Given the description of an element on the screen output the (x, y) to click on. 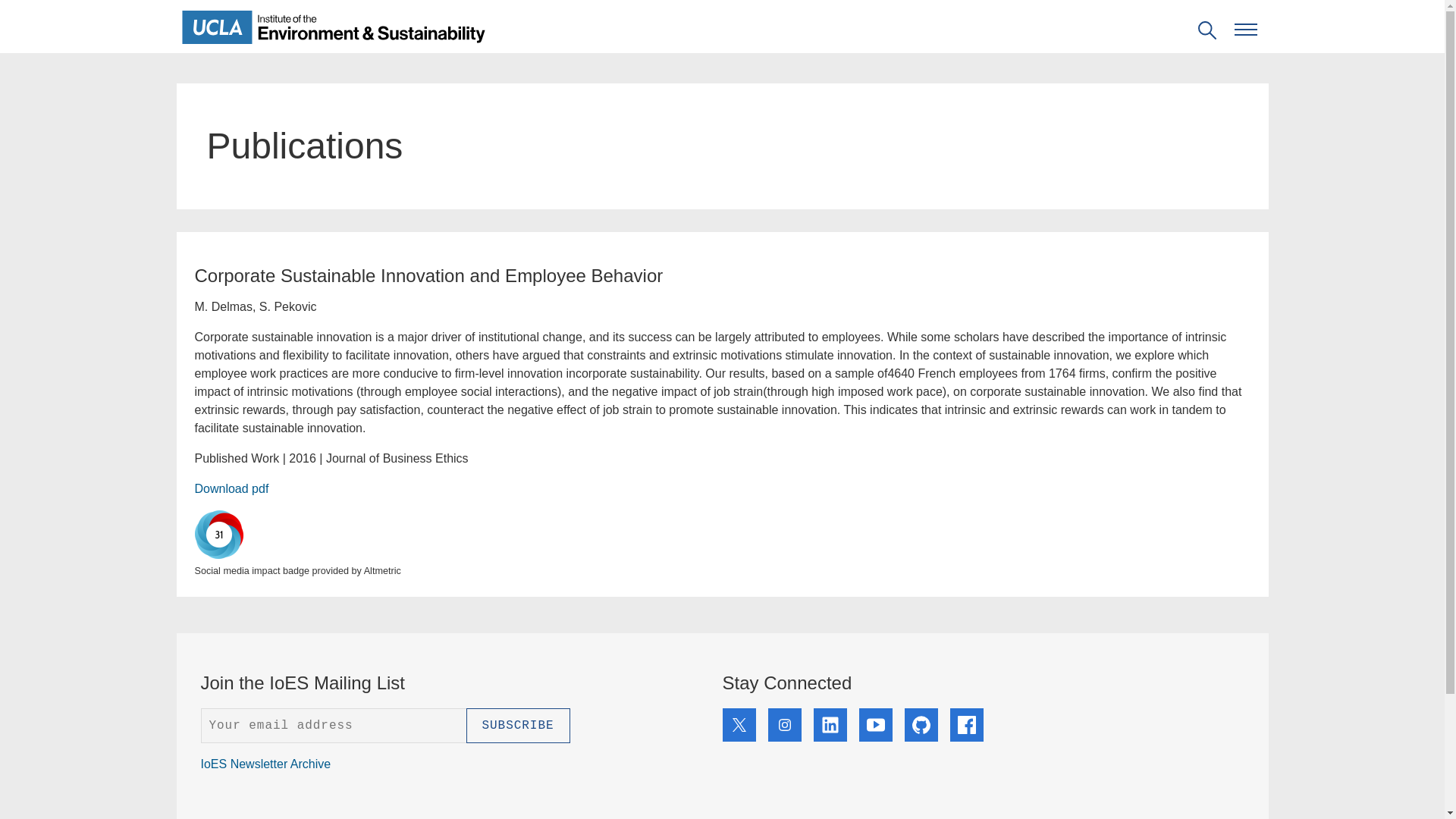
IoES Newsletter Archive (265, 763)
YouTube (875, 725)
X formally Twitter (738, 725)
Search (25, 9)
GitHub (920, 725)
Instagram (783, 725)
LinkedIn (828, 725)
Subscribe (517, 725)
Facebook (965, 725)
Subscribe (517, 725)
Download pdf (230, 488)
